Given the description of an element on the screen output the (x, y) to click on. 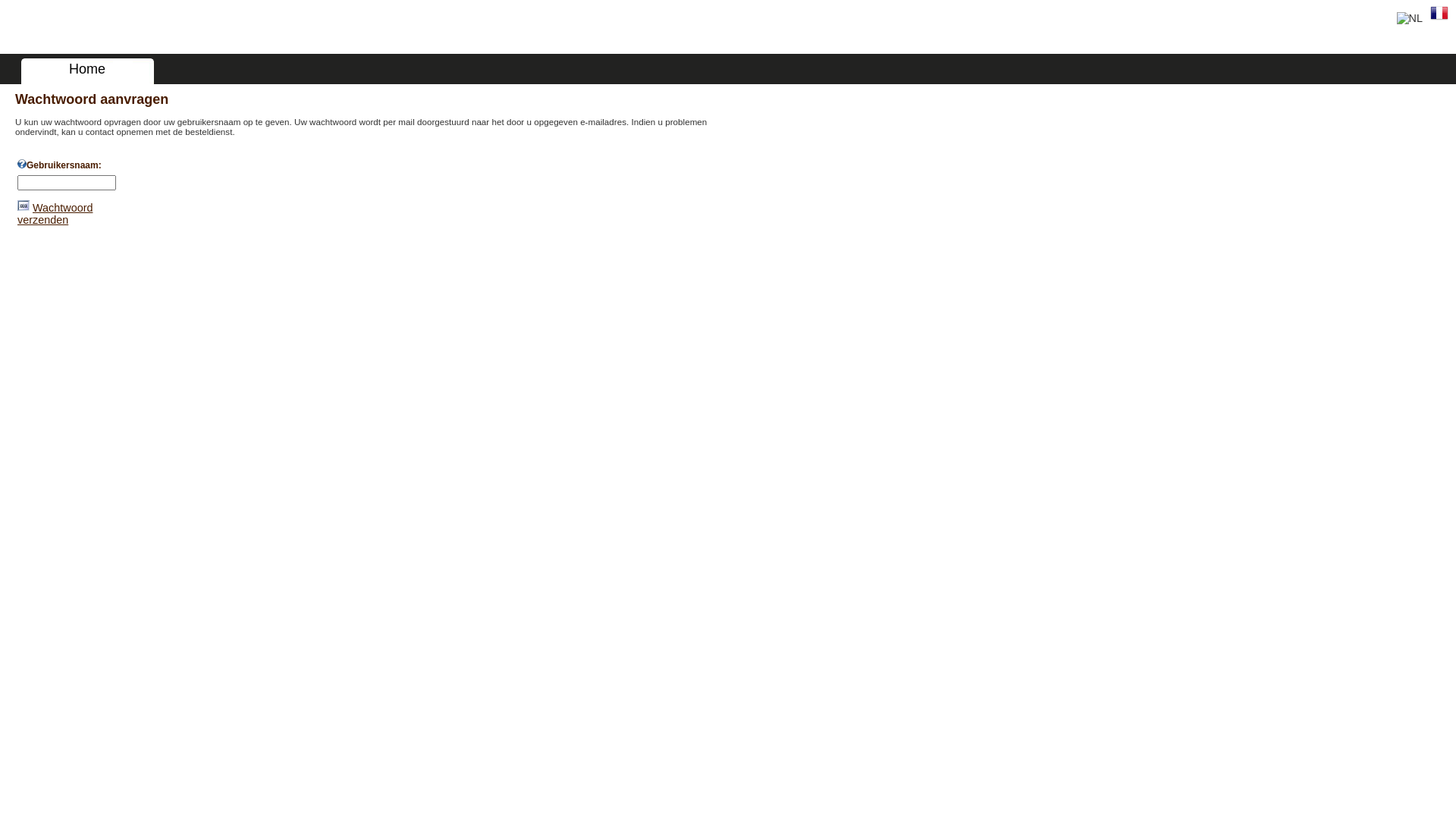
Home Element type: text (87, 68)
Wachtwoord verzenden Element type: text (54, 213)
Wachtwoord verzenden Element type: hover (23, 205)
